Given the description of an element on the screen output the (x, y) to click on. 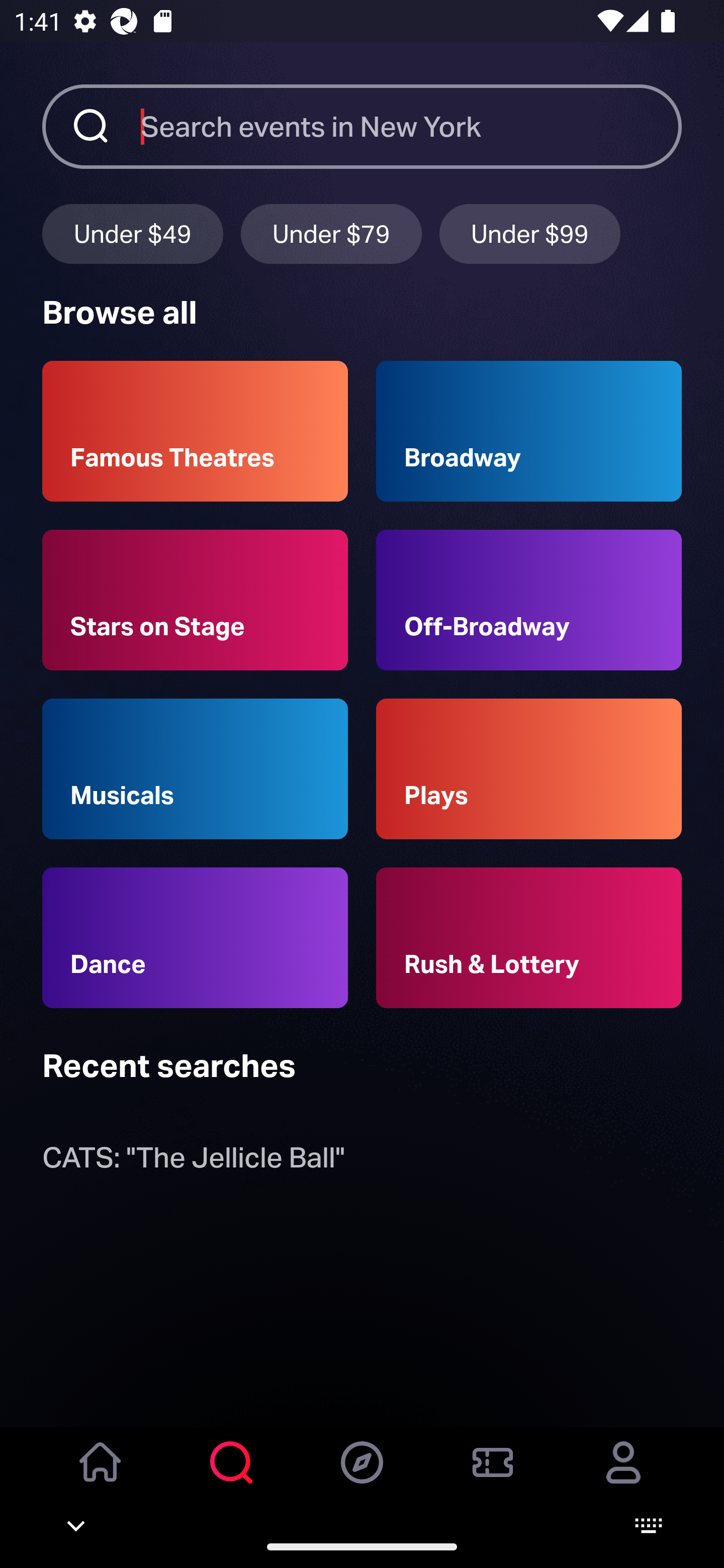
Search events in New York (411, 126)
Under $49 (131, 233)
Under $79 (331, 233)
Under $99 (529, 233)
Famous Theatres (194, 430)
Broadway (528, 430)
Stars on Stage (194, 600)
Off-Broadway (528, 600)
Musicals (194, 768)
Plays (528, 768)
Dance (194, 937)
Rush & Lottery (528, 937)
CATS: "The Jellicle Ball" (193, 1161)
Home (100, 1475)
Discover (361, 1475)
Orders (492, 1475)
Account (623, 1475)
